Given the description of an element on the screen output the (x, y) to click on. 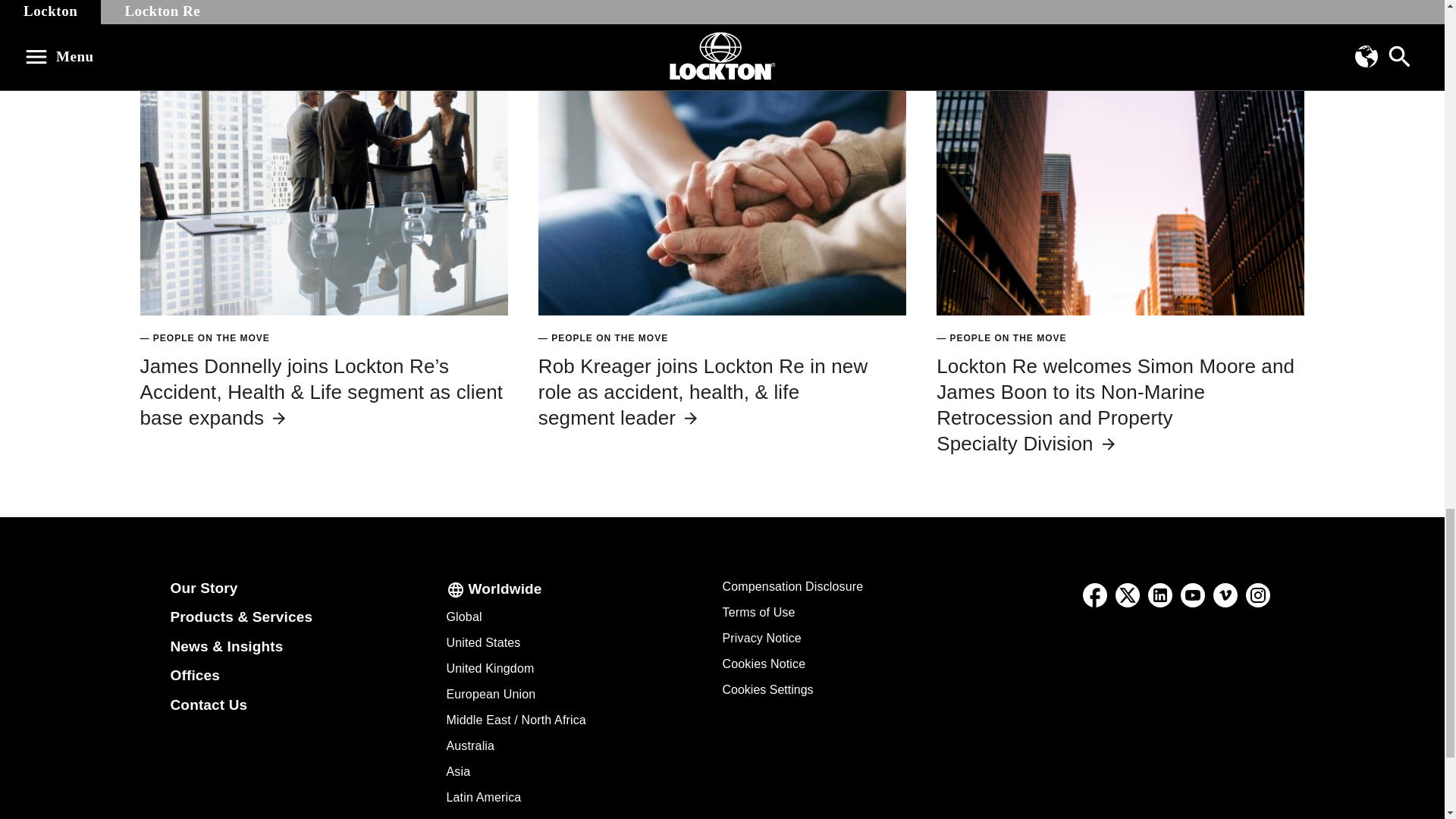
Follow Lockton on Instagram (1257, 595)
Cookies Notice (763, 663)
Follow Lockton on Instagram (1258, 595)
Asia (457, 771)
Terms of Use (758, 612)
European Union (490, 694)
Follow Lockton on YouTube (1192, 595)
Compensation Disclosure (792, 585)
United States (482, 642)
Australia (470, 745)
Follow Lockton on YouTube (1192, 595)
Follow Lockton on Vimeo (1224, 595)
Follow Lockton on Twitter (1127, 595)
Follow Lockton on Facebook (1094, 595)
